Given the description of an element on the screen output the (x, y) to click on. 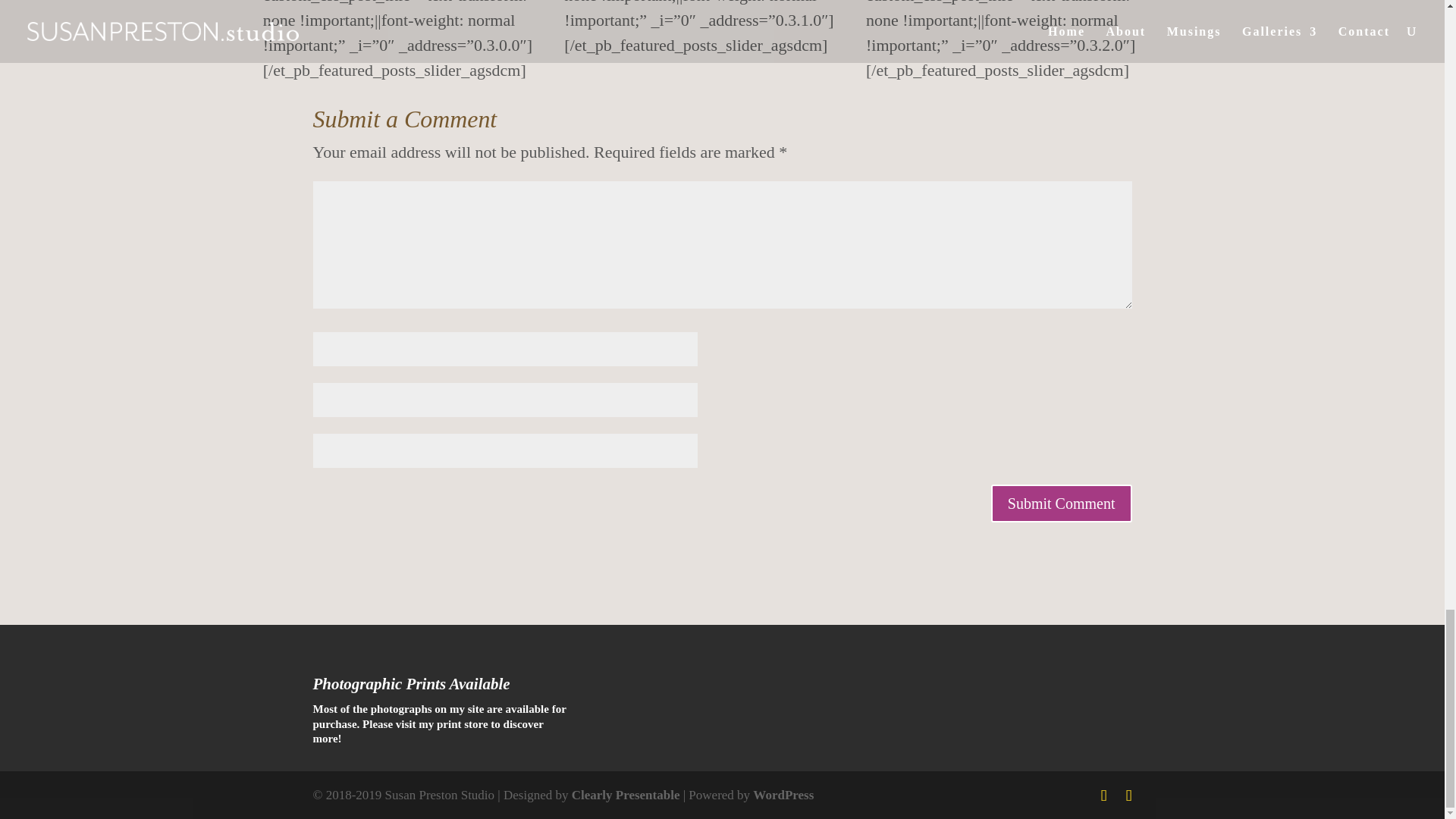
WordPress (782, 794)
Premium WordPress Themes (625, 794)
Clearly Presentable (625, 794)
Submit Comment (1061, 503)
Submit Comment (1061, 503)
